Given the description of an element on the screen output the (x, y) to click on. 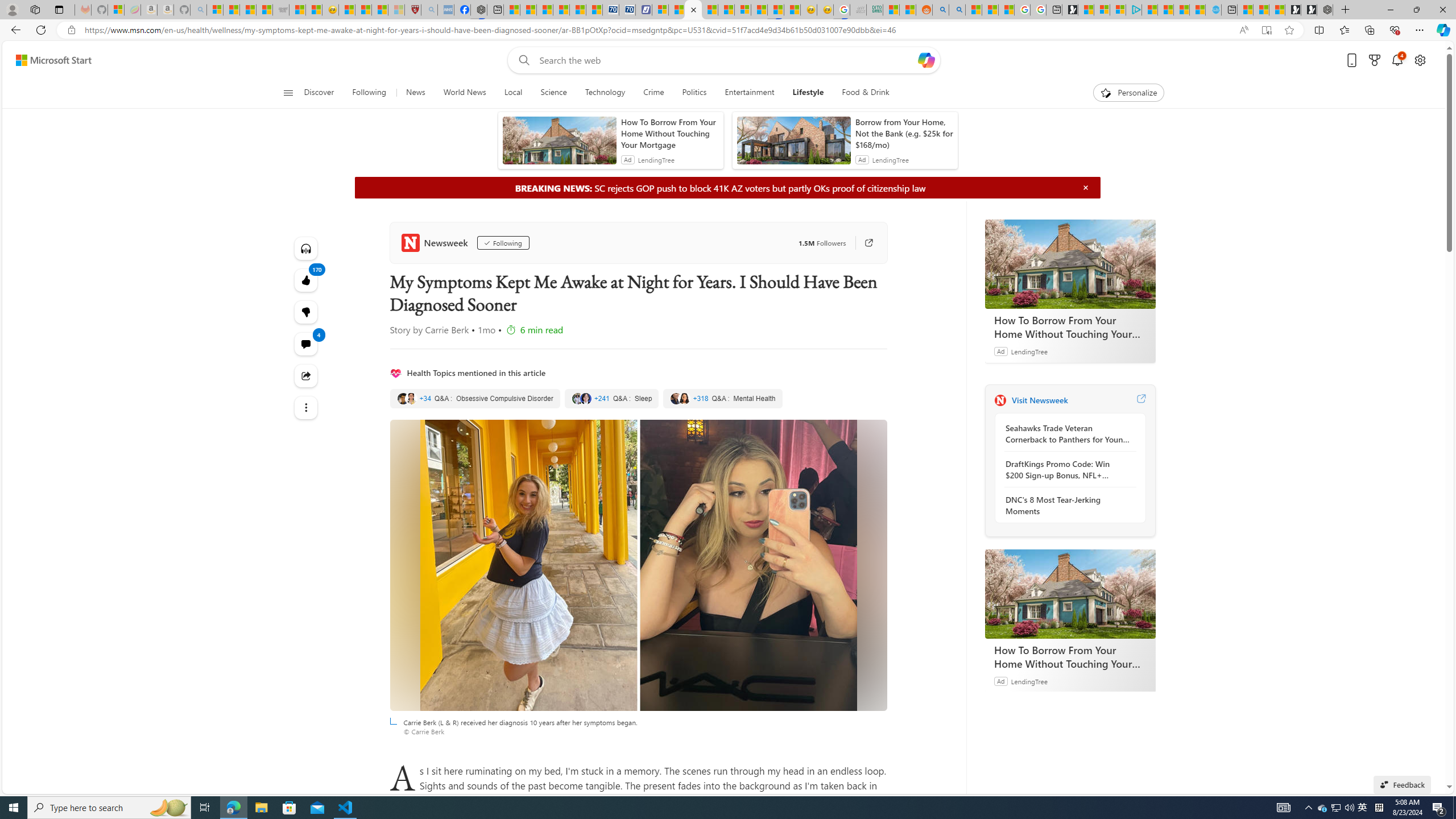
Obsessive Compulsive Disorder (475, 398)
Web search (520, 60)
Personalize (1128, 92)
Home | Sky Blue Bikes - Sky Blue Bikes (1213, 9)
Newsweek (436, 242)
